Given the description of an element on the screen output the (x, y) to click on. 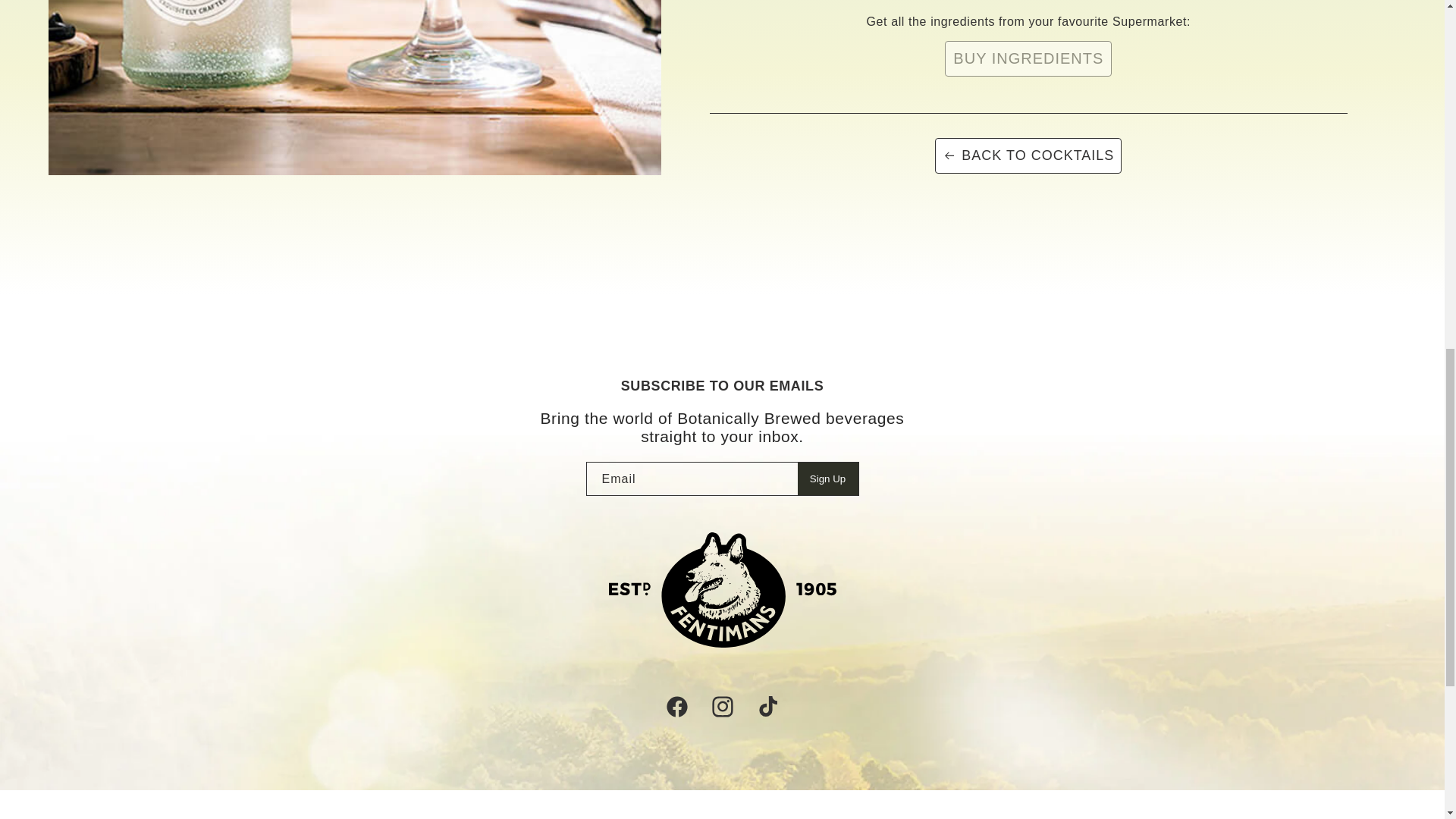
Instagram (721, 706)
Facebook (675, 706)
BUY INGREDIENTS (1028, 58)
Sign Up (828, 478)
BACK TO COCKTAILS (1027, 155)
TikTok (767, 706)
SKIP TO CONTENT (45, 145)
